Given the description of an element on the screen output the (x, y) to click on. 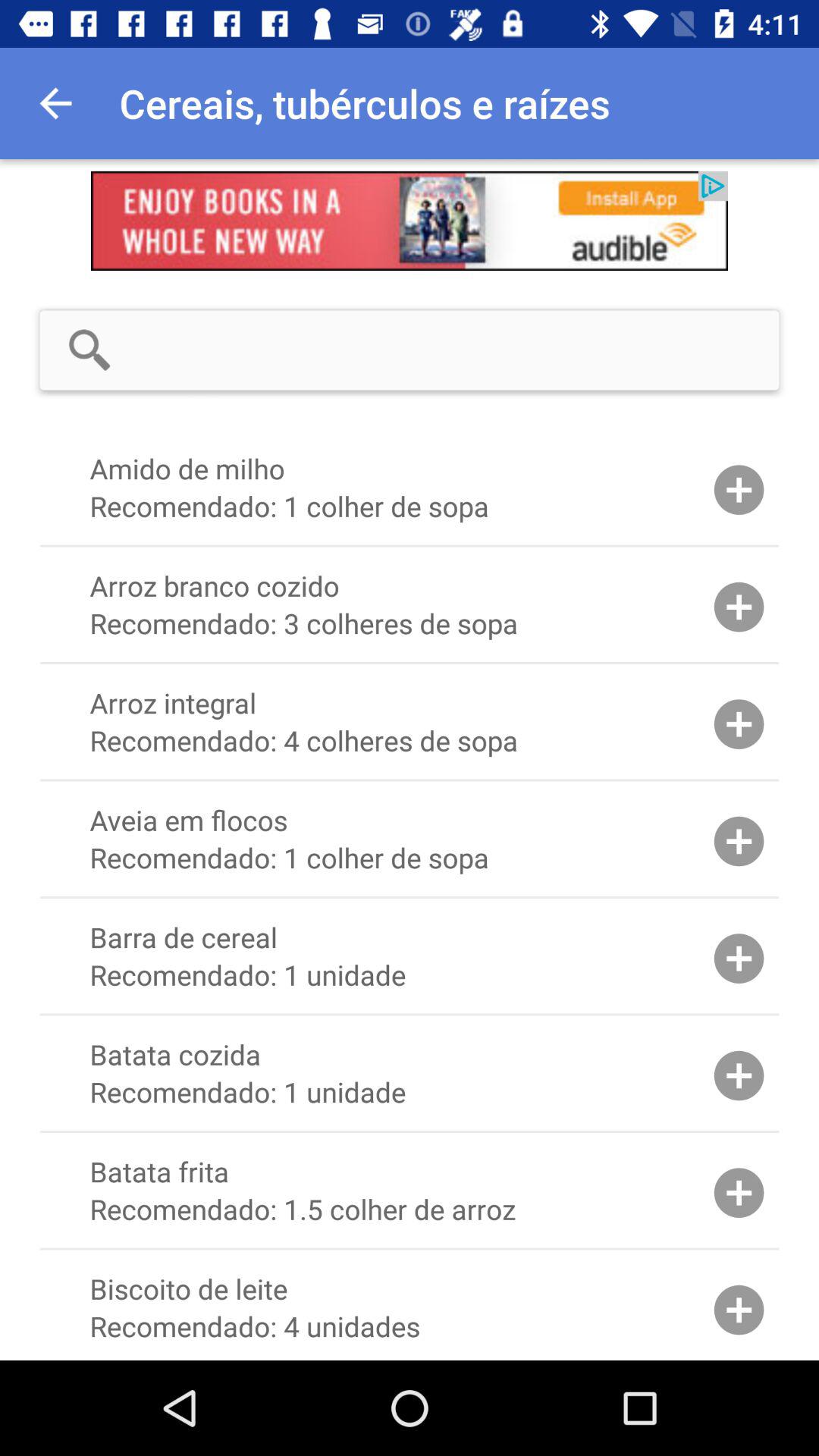
search input (459, 350)
